Given the description of an element on the screen output the (x, y) to click on. 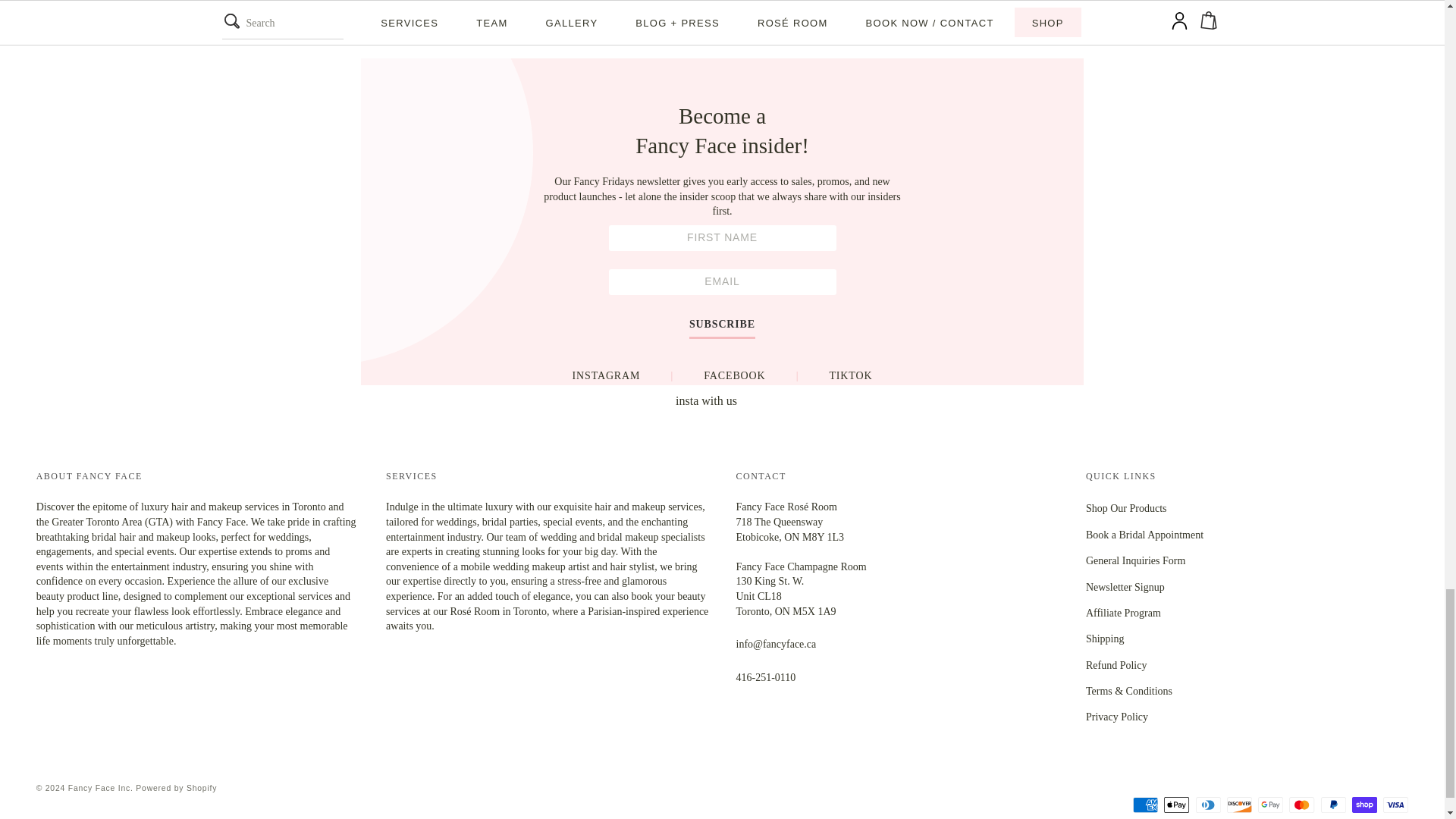
tel:4162510110 (764, 677)
